Given the description of an element on the screen output the (x, y) to click on. 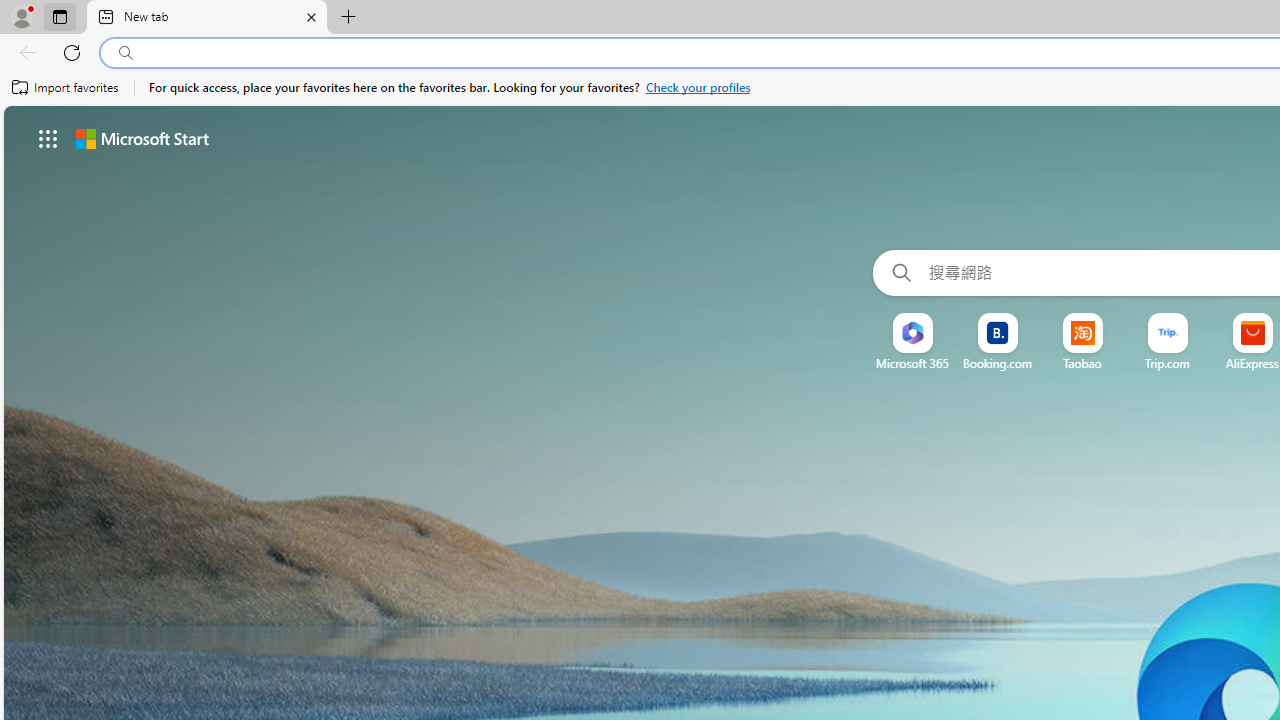
Profile 1 Profile, Please sign in (21, 16)
AliExpress (1252, 363)
